Given the description of an element on the screen output the (x, y) to click on. 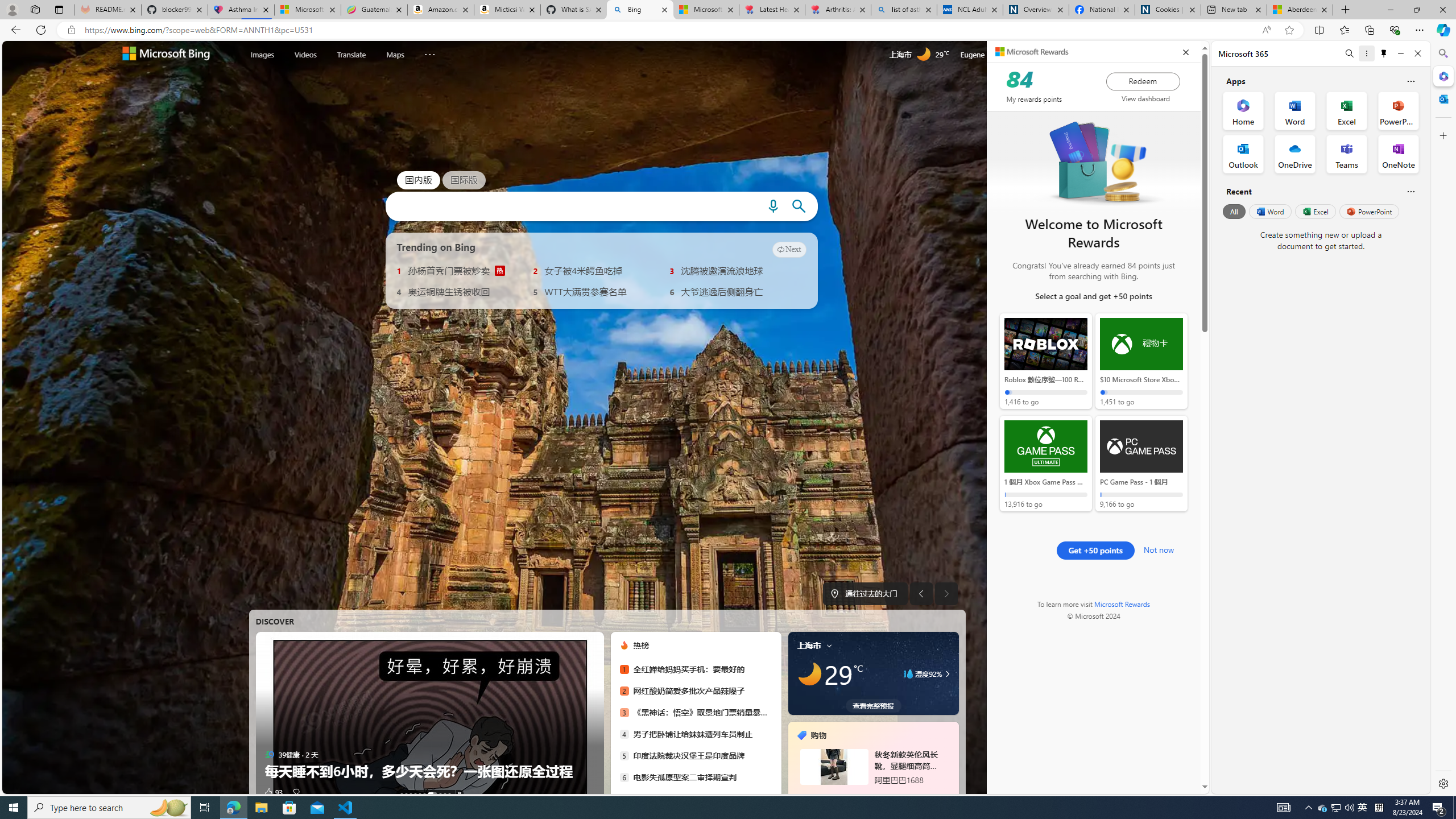
tab-3 (876, 795)
Eugene (987, 54)
tab-2 (869, 795)
OneDrive Office App (1295, 154)
AutomationID: rh_meter (1037, 54)
tab-5 (889, 795)
Translate (351, 53)
